Given the description of an element on the screen output the (x, y) to click on. 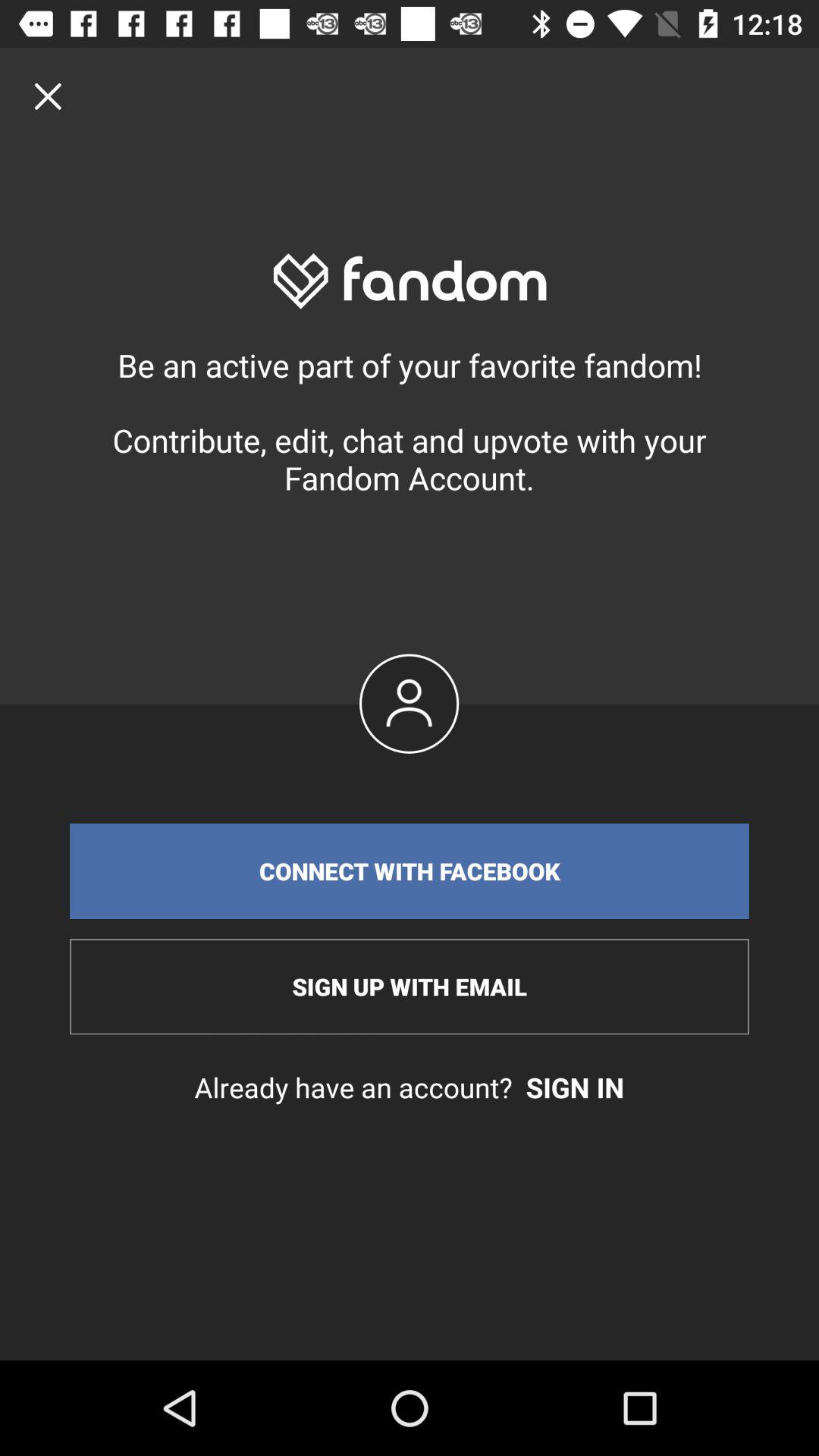
click icon below connect with facebook item (409, 986)
